Given the description of an element on the screen output the (x, y) to click on. 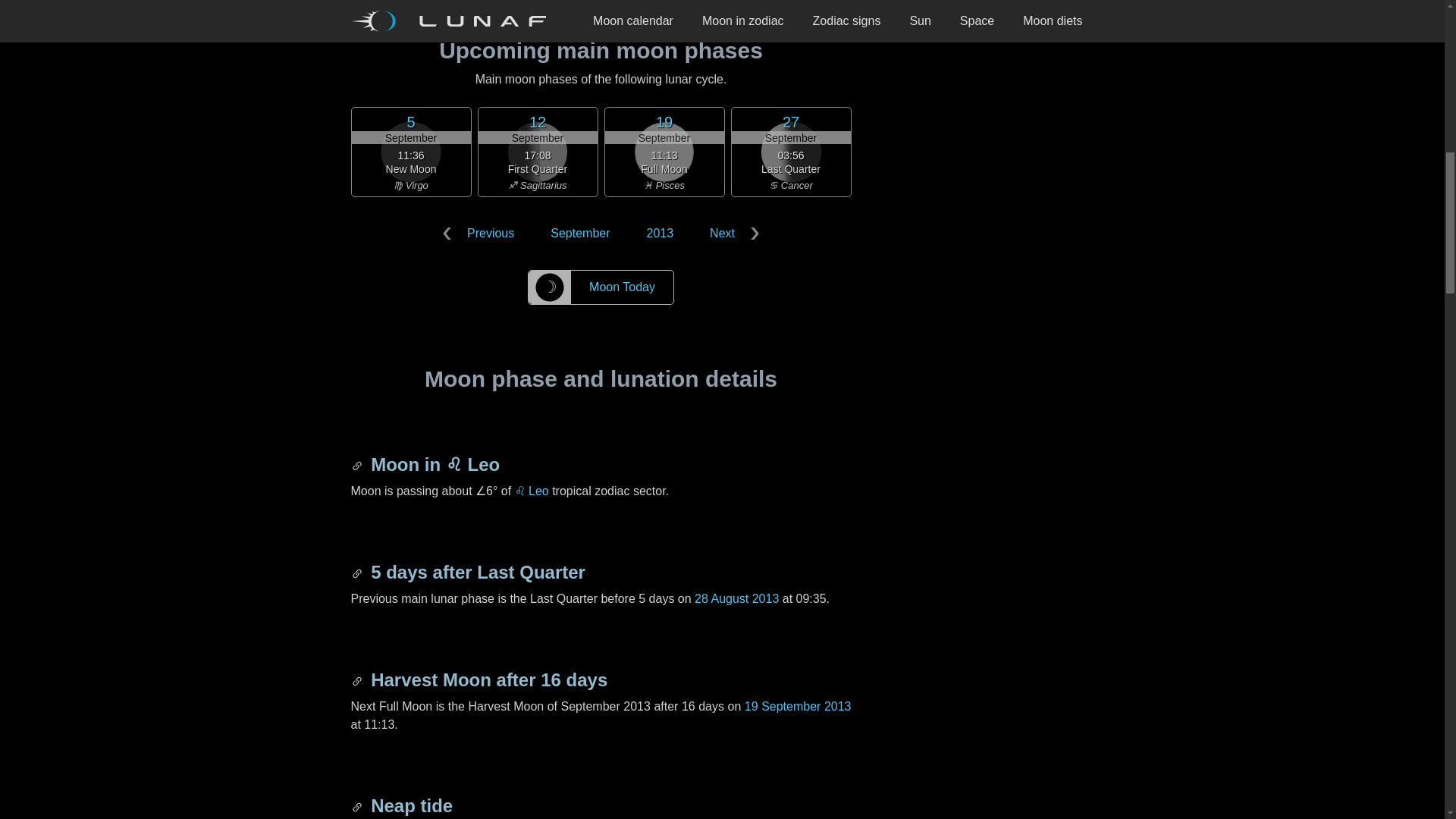
September (579, 233)
Next (731, 233)
19 September 2013 (797, 706)
Previous (481, 233)
2013 (659, 233)
28 August 2013 (736, 598)
